Given the description of an element on the screen output the (x, y) to click on. 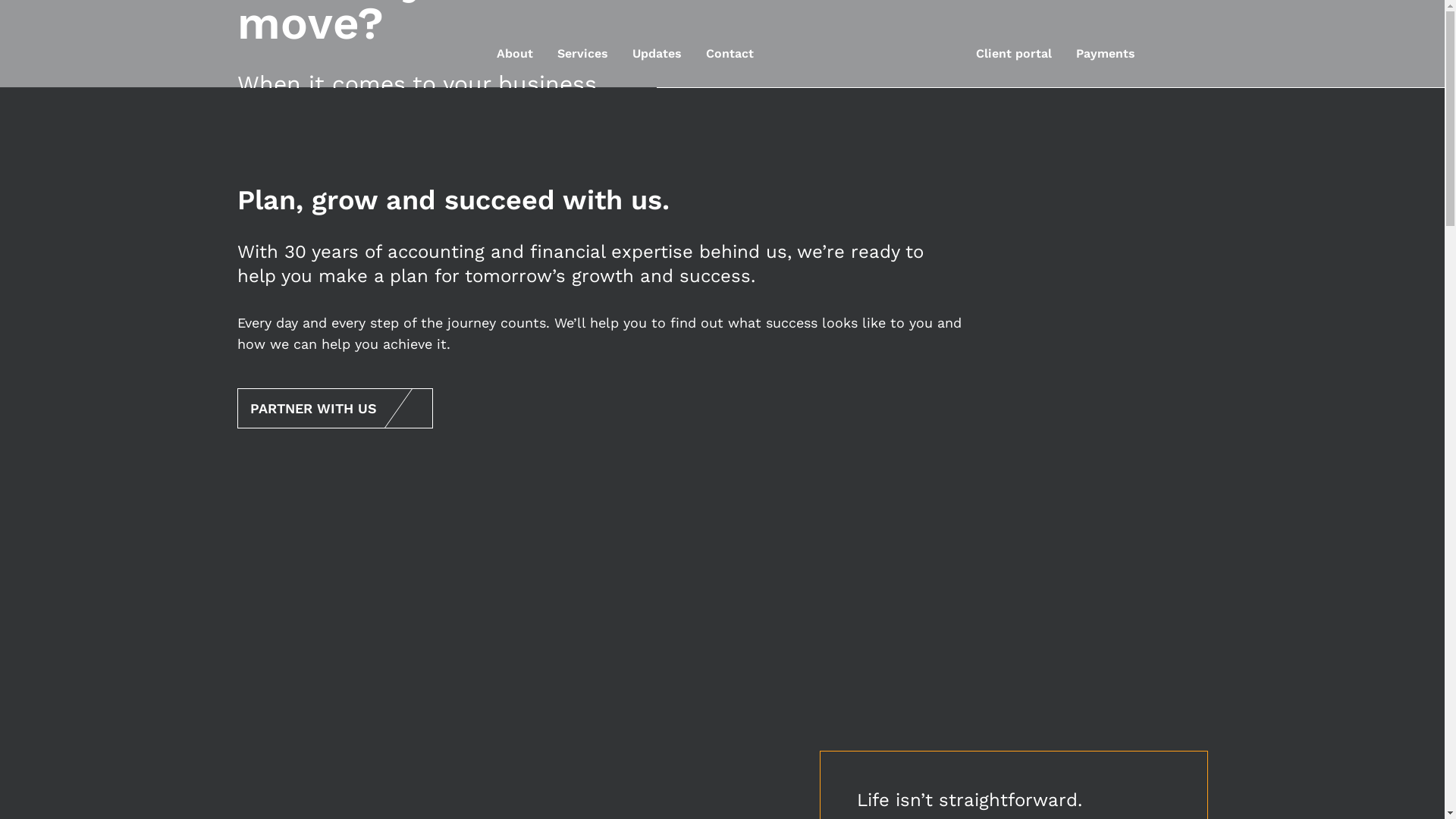
Contact Element type: text (729, 43)
Services Element type: text (582, 43)
Updates Element type: text (656, 43)
PARTNER WITH US Element type: text (334, 408)
Client portal Element type: text (1013, 43)
Payments Element type: text (1104, 43)
About Element type: text (514, 43)
